Given the description of an element on the screen output the (x, y) to click on. 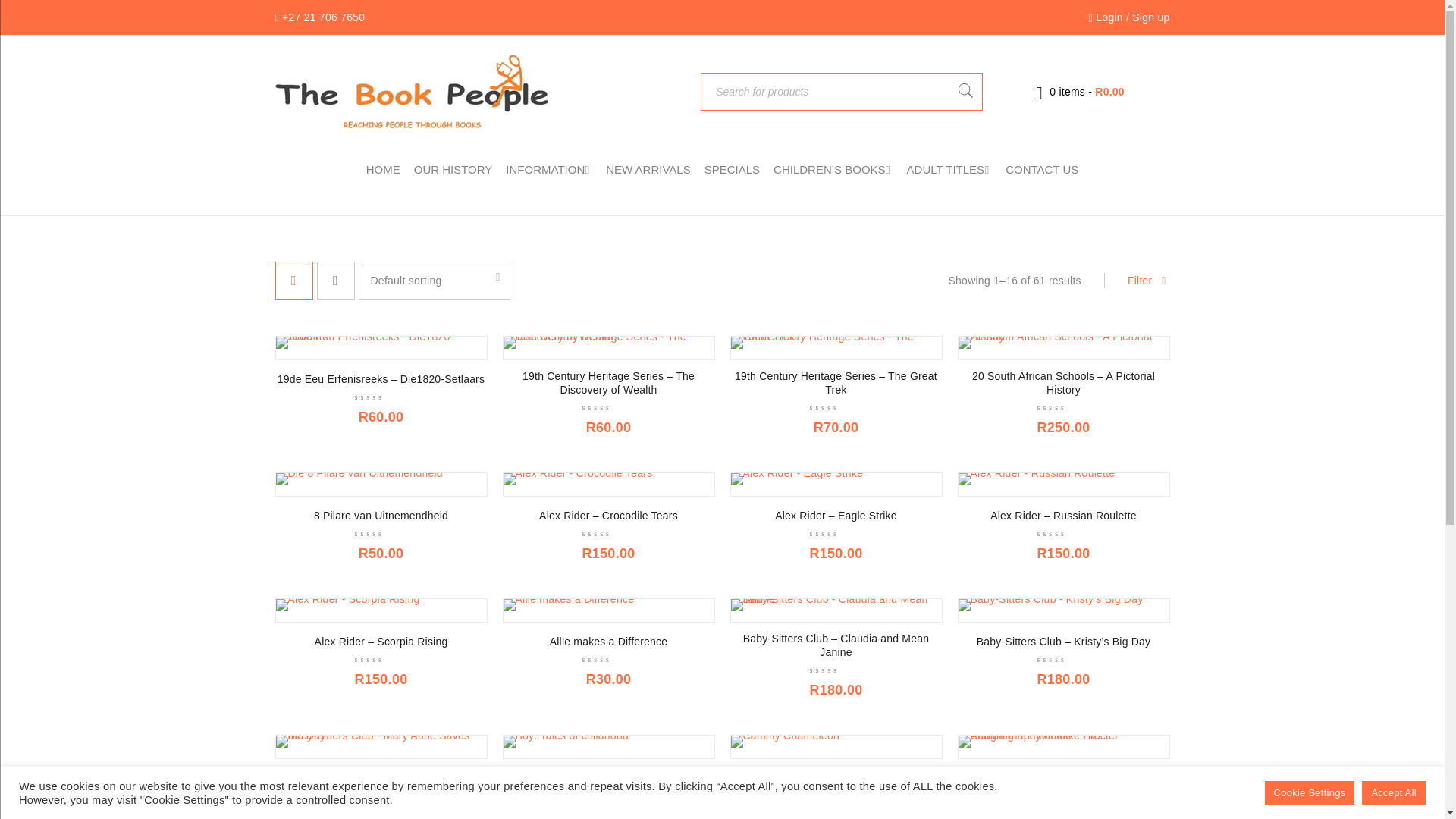
SPECIALS (732, 169)
Login (1109, 17)
ADULT TITLES (949, 169)
BoxShop (411, 90)
OUR HISTORY (453, 169)
Search (964, 91)
INFORMATION (548, 169)
View your shopping bag (1079, 91)
Search (964, 91)
0 items - R0.00 (1079, 91)
NEW ARRIVALS (647, 169)
Grid view (294, 280)
Sign up (1150, 17)
List view (336, 280)
Create New Account (1150, 17)
